Given the description of an element on the screen output the (x, y) to click on. 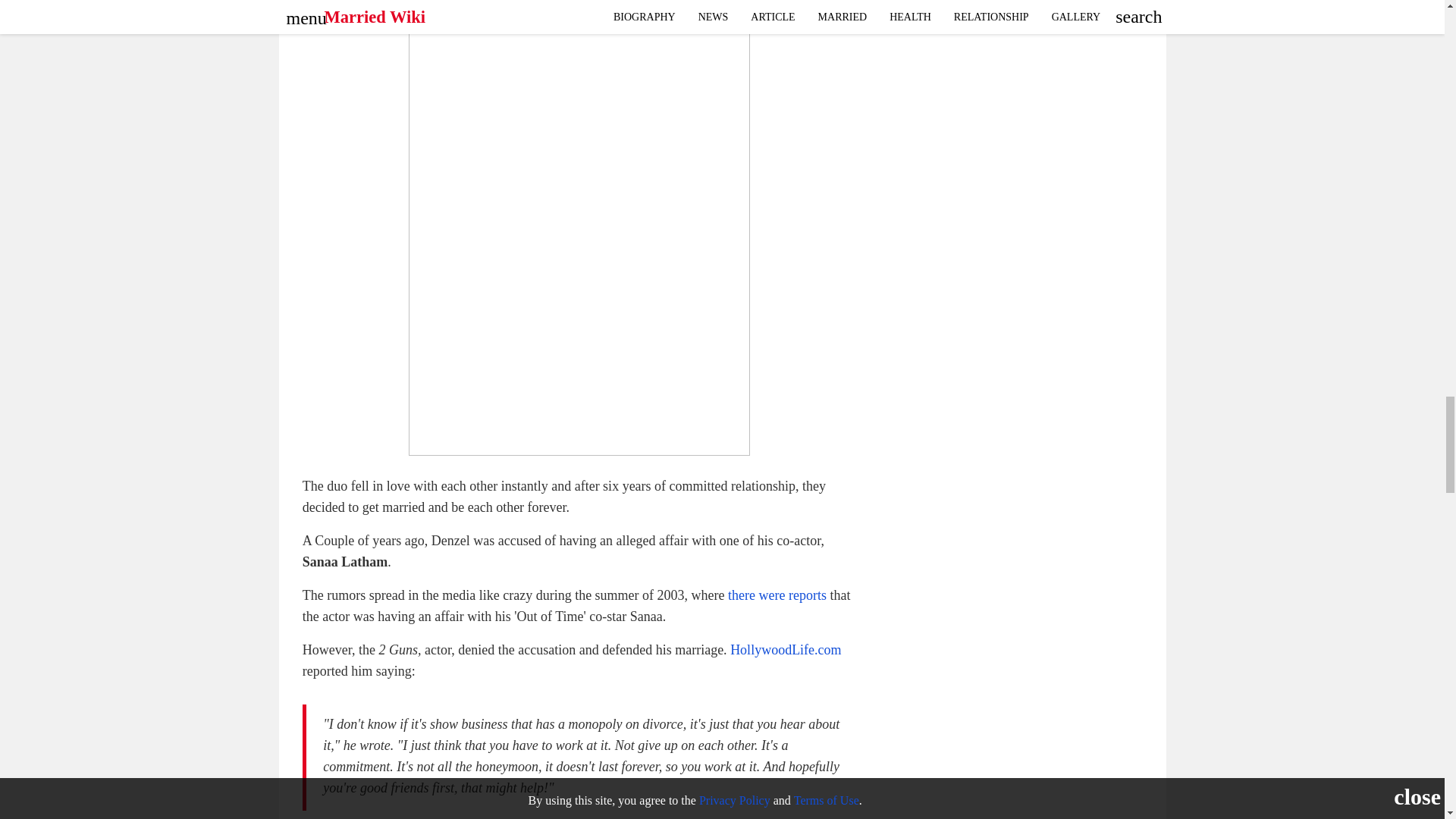
there were reports (777, 595)
HollywoodLife.com (785, 649)
